Given the description of an element on the screen output the (x, y) to click on. 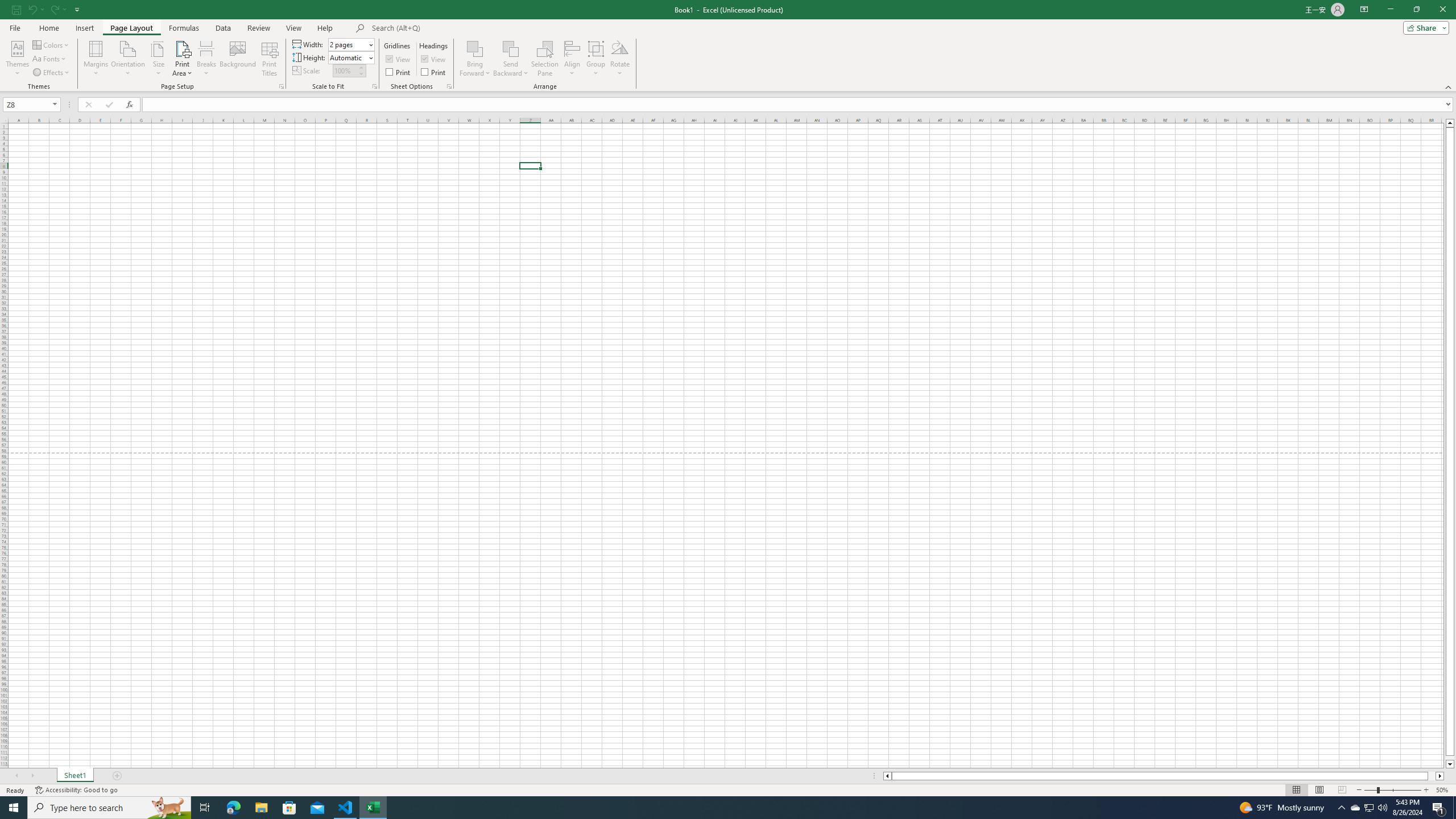
Bring Forward (475, 48)
Print Area (182, 58)
Breaks (206, 58)
Rotate (619, 58)
Print (434, 71)
Margins (95, 58)
Size (158, 58)
Background... (237, 58)
